Given the description of an element on the screen output the (x, y) to click on. 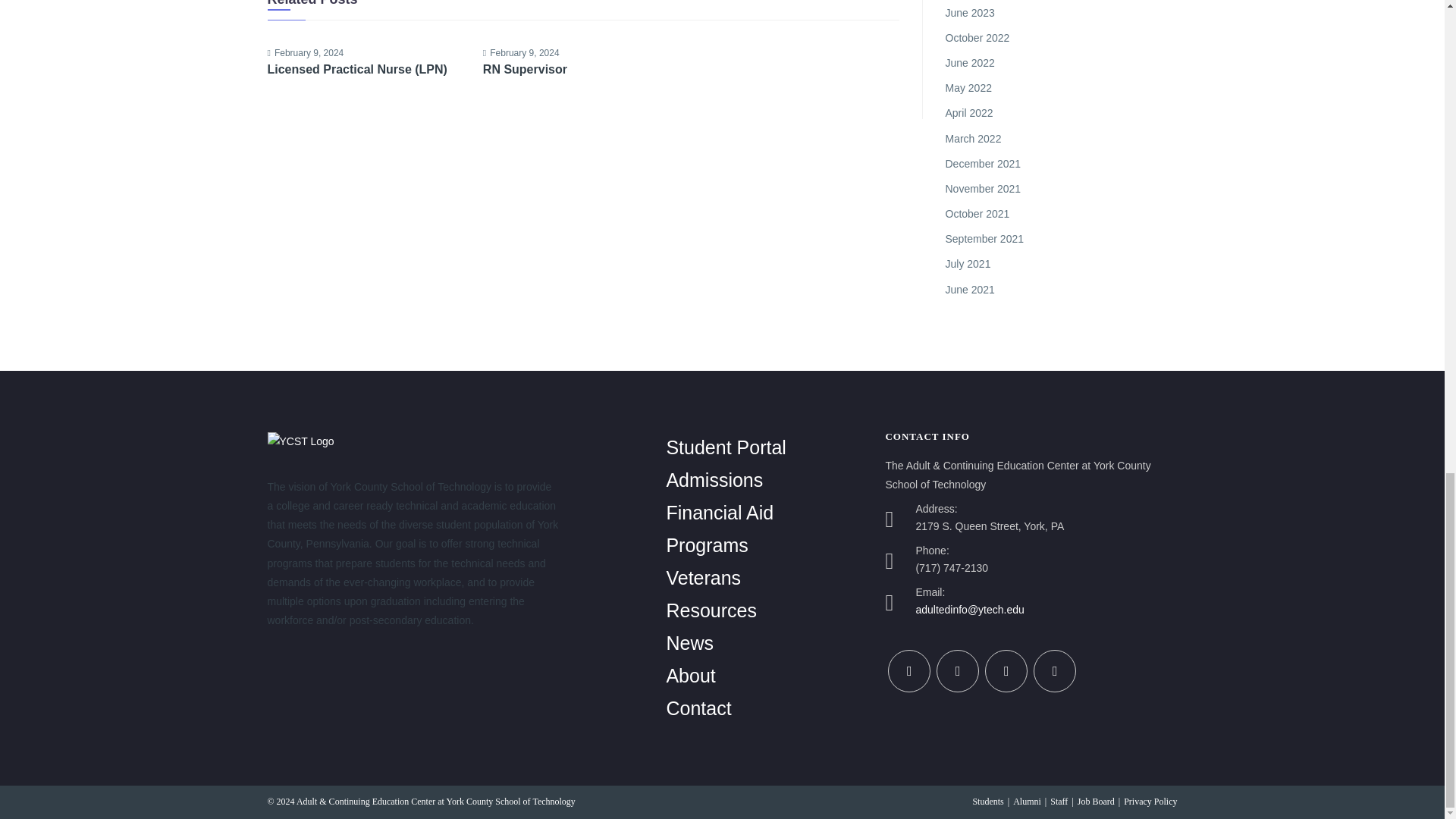
RN Supervisor (582, 69)
News (689, 642)
Students (987, 801)
About (689, 675)
Veterans (703, 577)
Financial Aid (719, 512)
Privacy Policy (1150, 801)
Contact (697, 708)
Staff Links (1058, 801)
Admissions (713, 479)
